Given the description of an element on the screen output the (x, y) to click on. 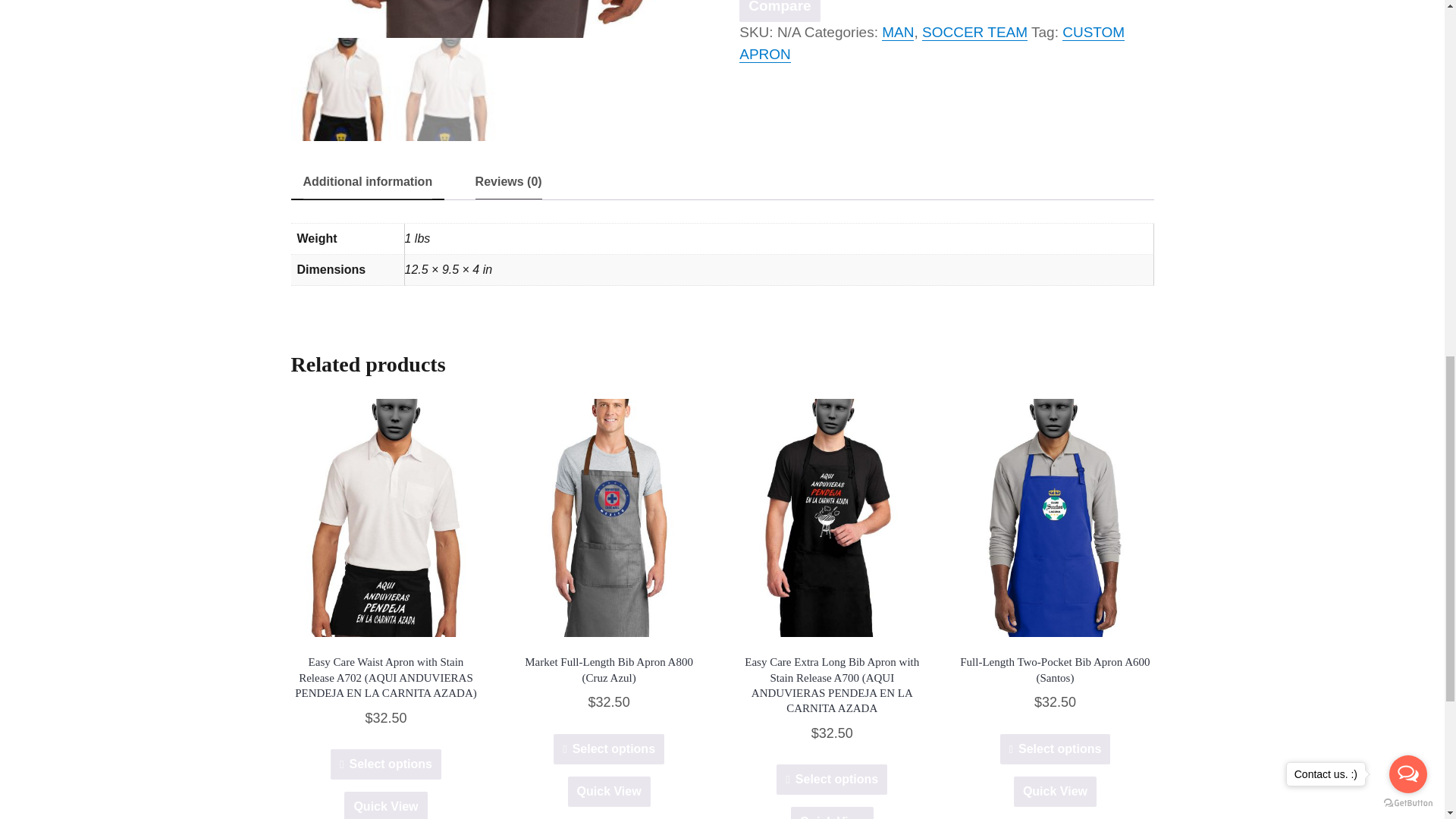
MAN (898, 32)
CUSTOM APRON (931, 43)
SOCCER TEAM (974, 32)
Compare (779, 11)
Additional information (367, 182)
